Given the description of an element on the screen output the (x, y) to click on. 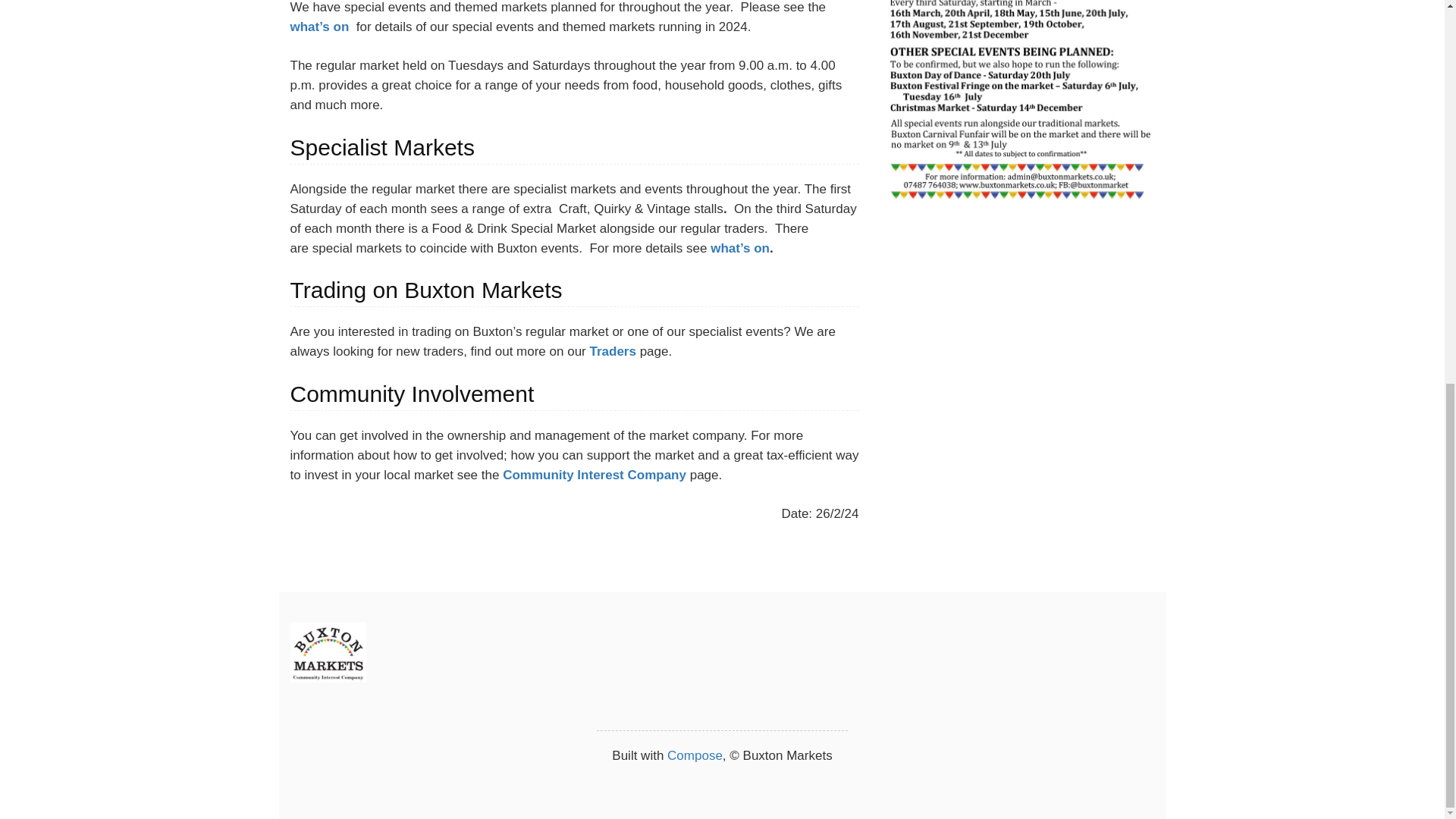
Compose (694, 755)
Traders (611, 350)
Community Interest Company (593, 474)
